Given the description of an element on the screen output the (x, y) to click on. 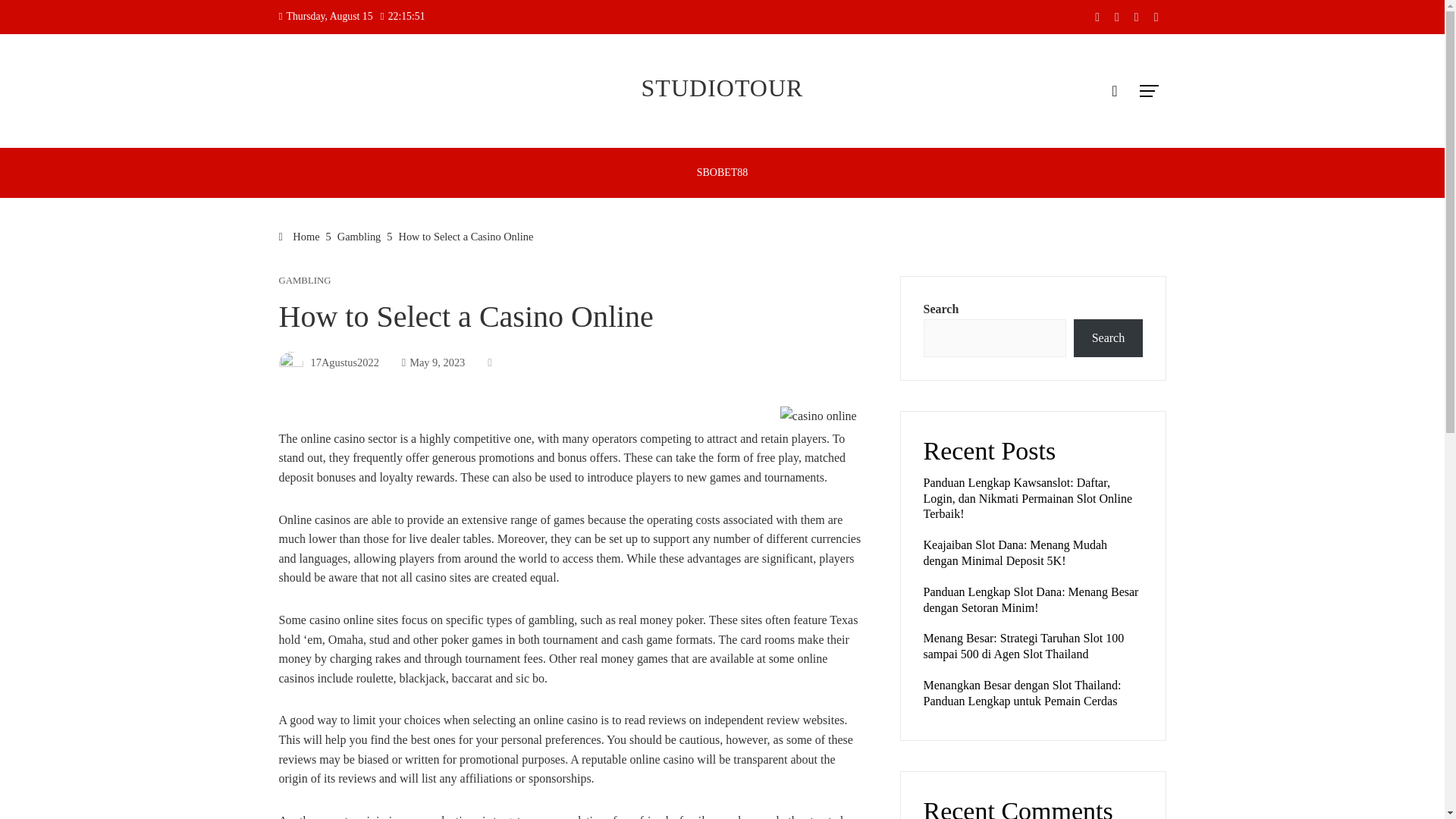
Gambling (359, 236)
STUDIOTOUR (722, 87)
Home (299, 236)
SBOBET88 (722, 173)
Search (1107, 338)
GAMBLING (305, 280)
Keajaiban Slot Dana: Menang Mudah dengan Minimal Deposit 5K! (1015, 552)
